Given the description of an element on the screen output the (x, y) to click on. 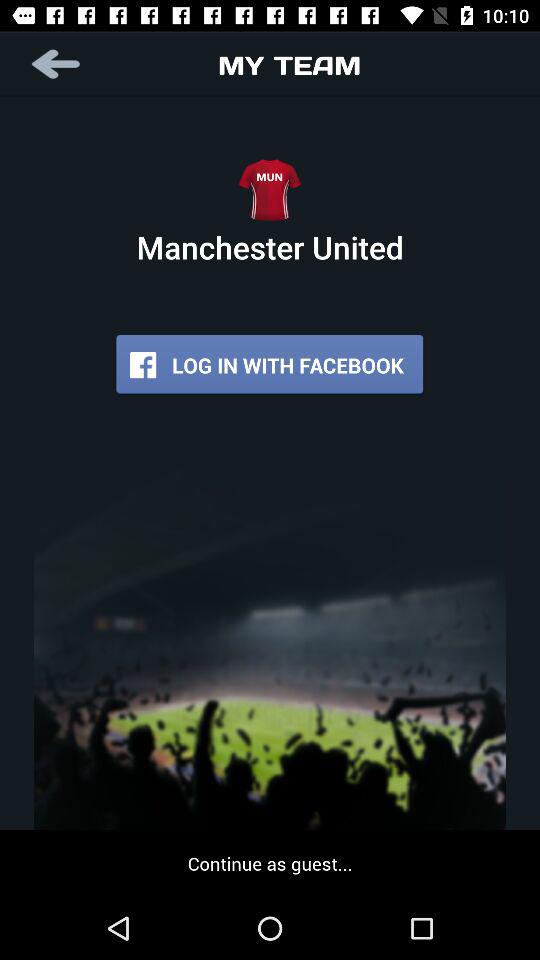
open the item above the manchester united icon (57, 63)
